Given the description of an element on the screen output the (x, y) to click on. 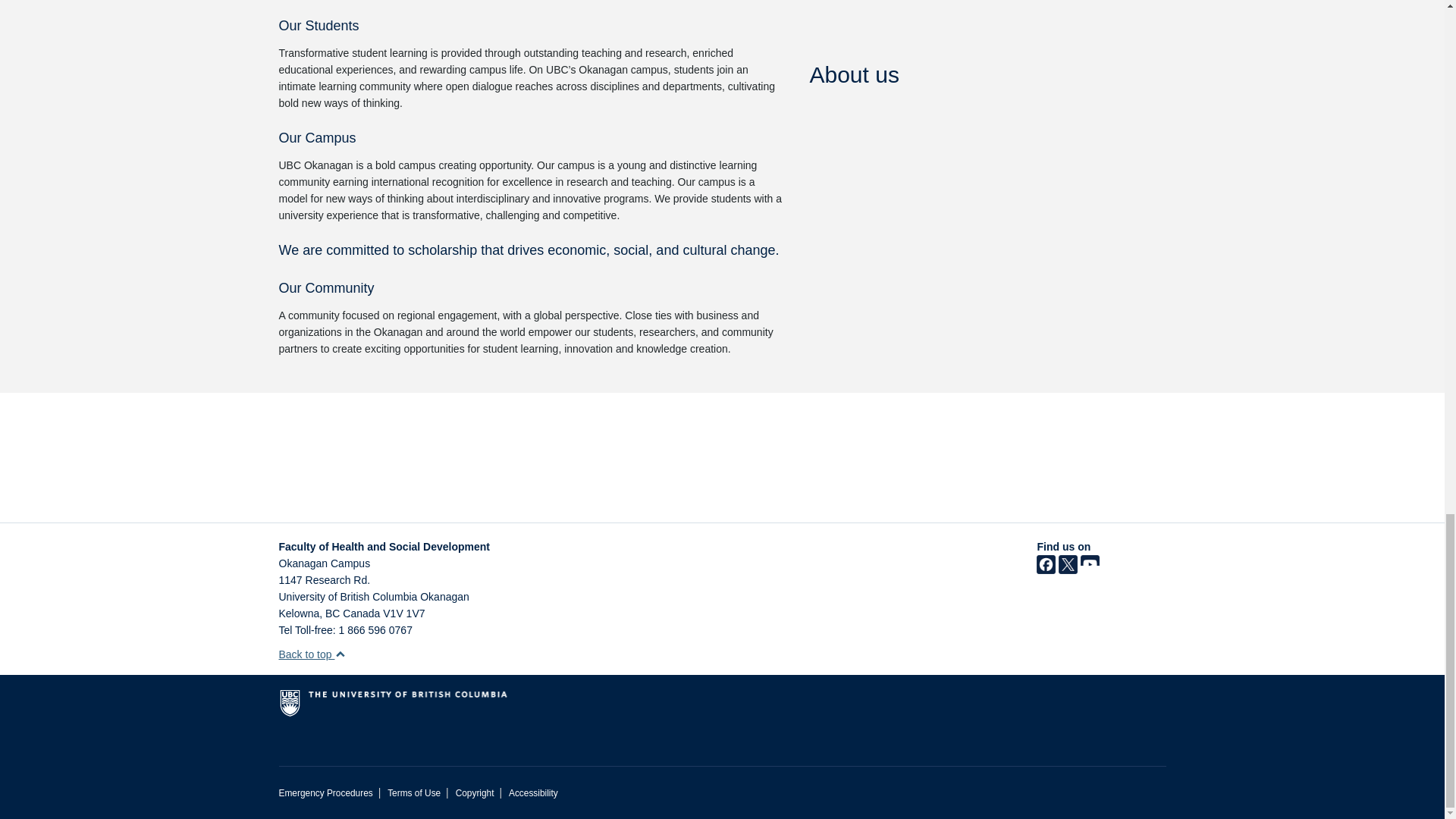
YouTube icon (1089, 570)
Back to top (312, 654)
Facebook icon (1045, 570)
The University of British Columbia (456, 709)
Copyright (475, 792)
Twitter icon (1067, 570)
UBC Copyright (475, 792)
Terms of Use (414, 792)
Emergency Procedures (325, 792)
Accessibility (532, 792)
Emergency Procedures (325, 792)
Terms of Use (414, 792)
Back to top (312, 654)
Accessibility (532, 792)
